Given the description of an element on the screen output the (x, y) to click on. 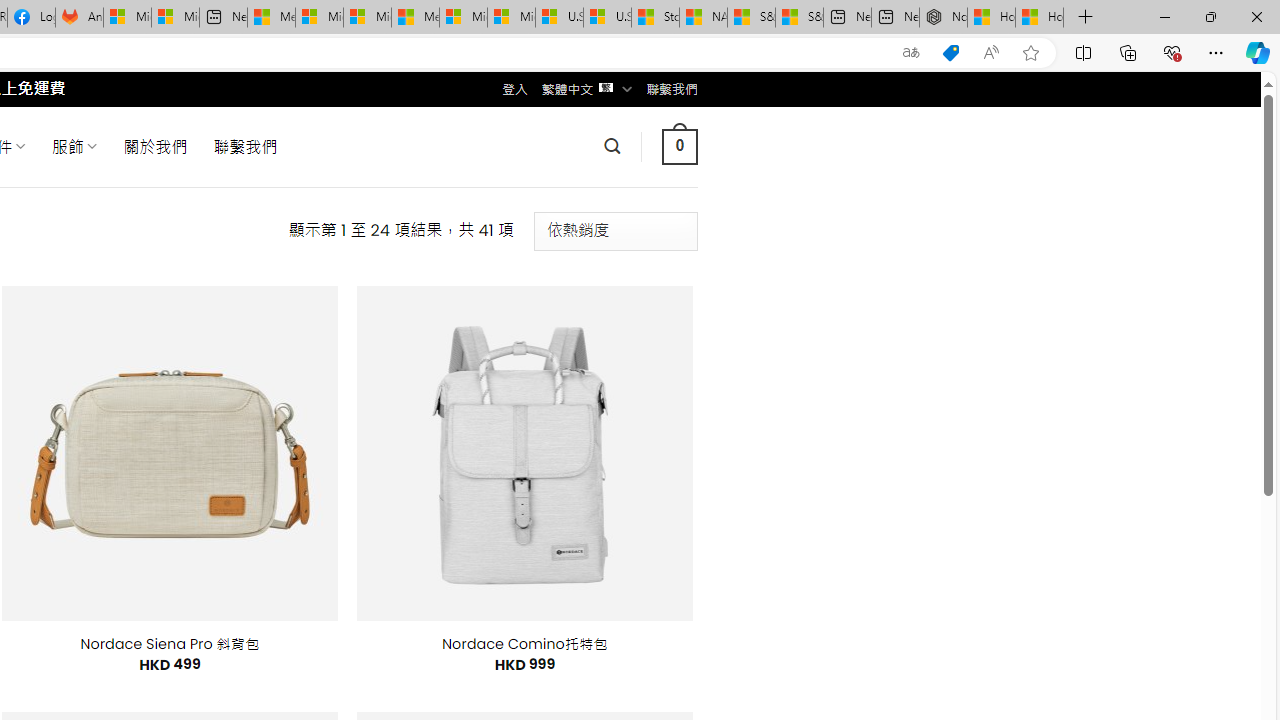
Show translate options (910, 53)
This site has coupons! Shopping in Microsoft Edge (950, 53)
 0  (679, 146)
  0   (679, 146)
Microsoft account | Home (367, 17)
